Given the description of an element on the screen output the (x, y) to click on. 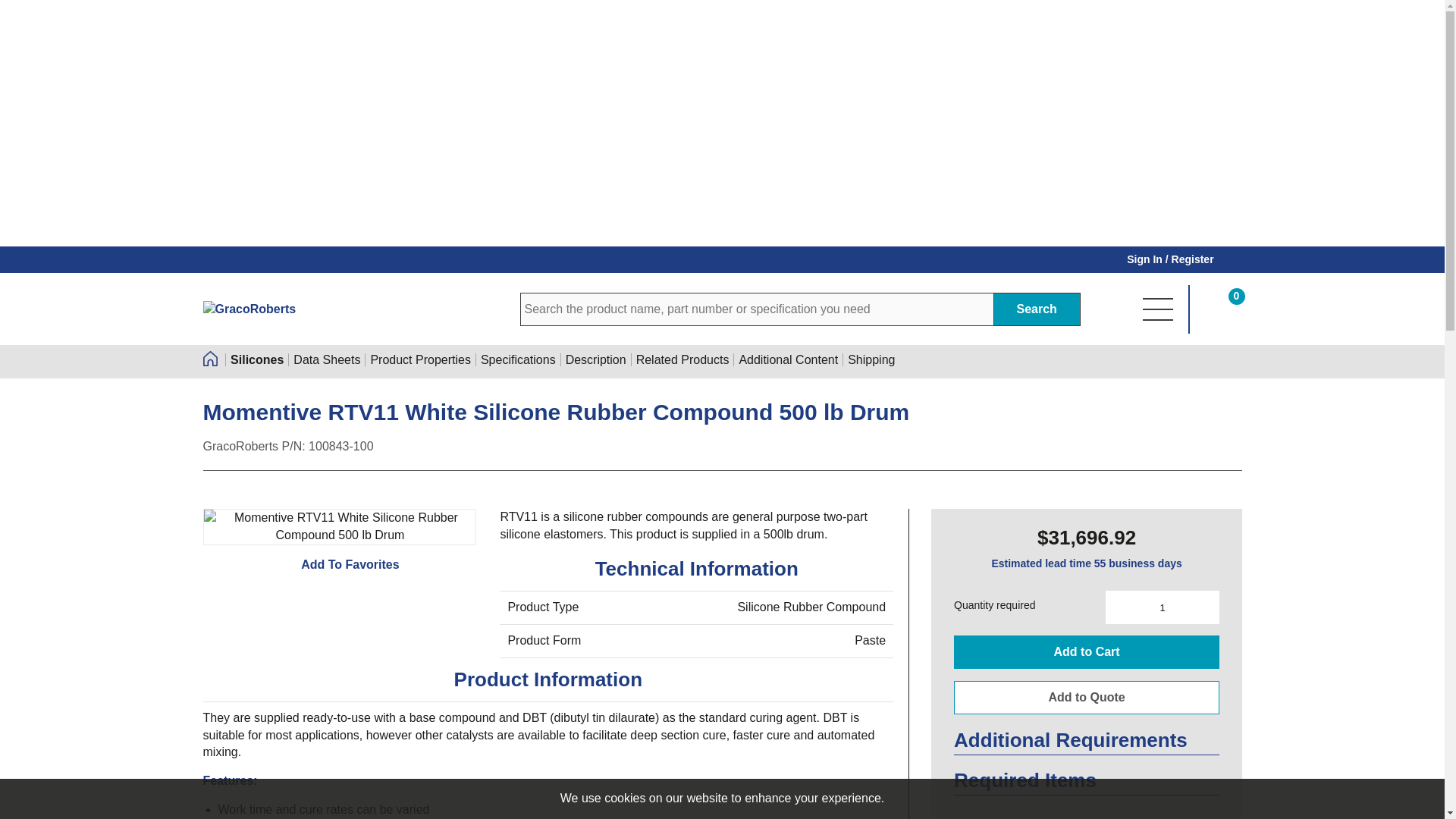
Add to Quote (1086, 697)
1 (1162, 607)
